Given the description of an element on the screen output the (x, y) to click on. 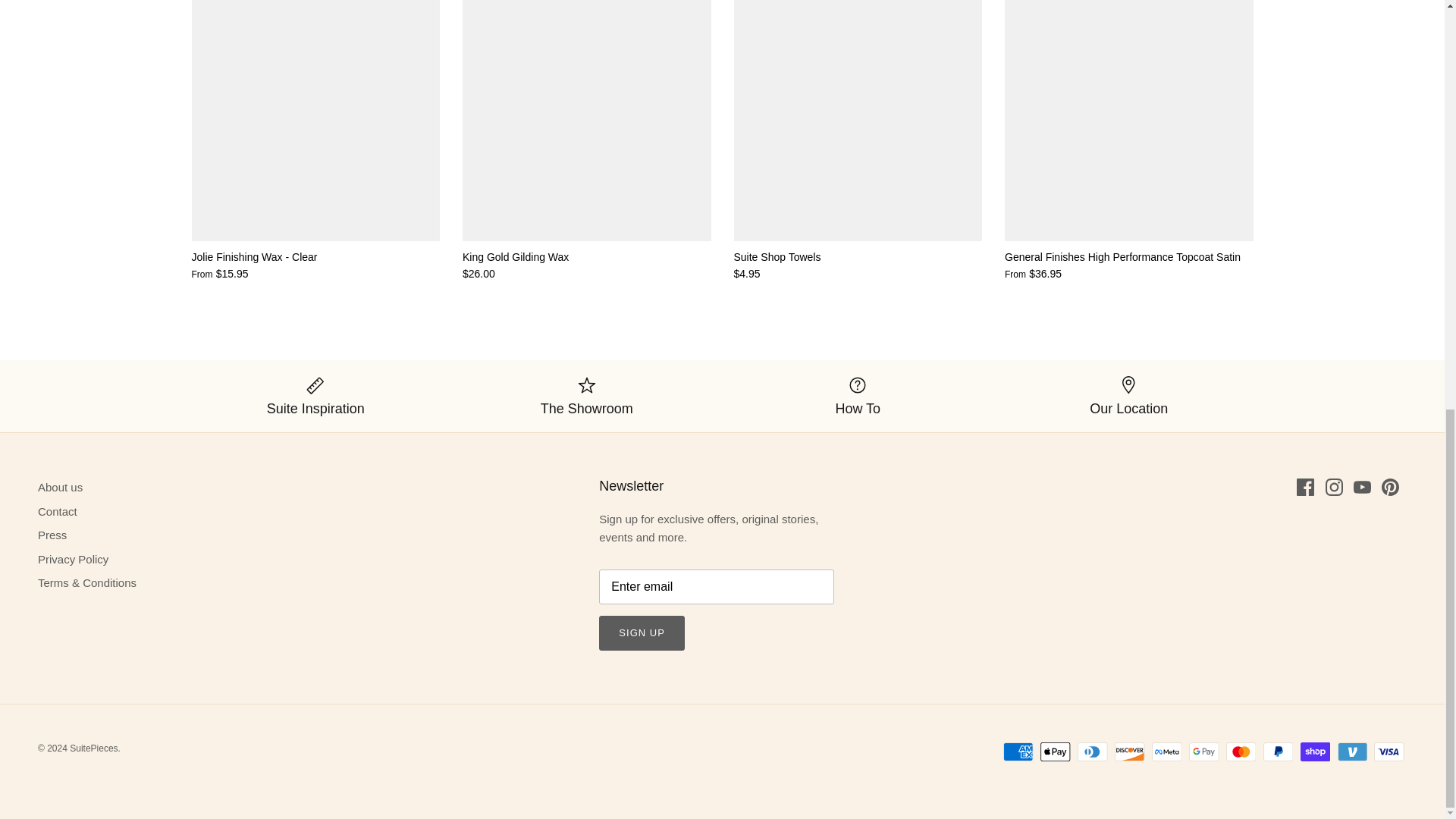
Instagram (1333, 487)
American Express (1018, 751)
Pinterest (1390, 487)
Youtube (1362, 487)
Facebook (1305, 487)
